Given the description of an element on the screen output the (x, y) to click on. 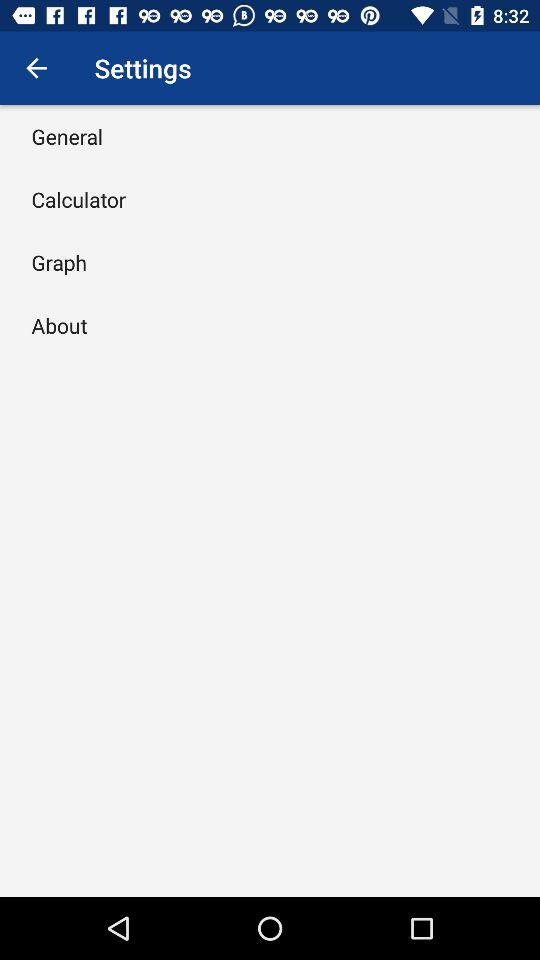
launch calculator (78, 199)
